Given the description of an element on the screen output the (x, y) to click on. 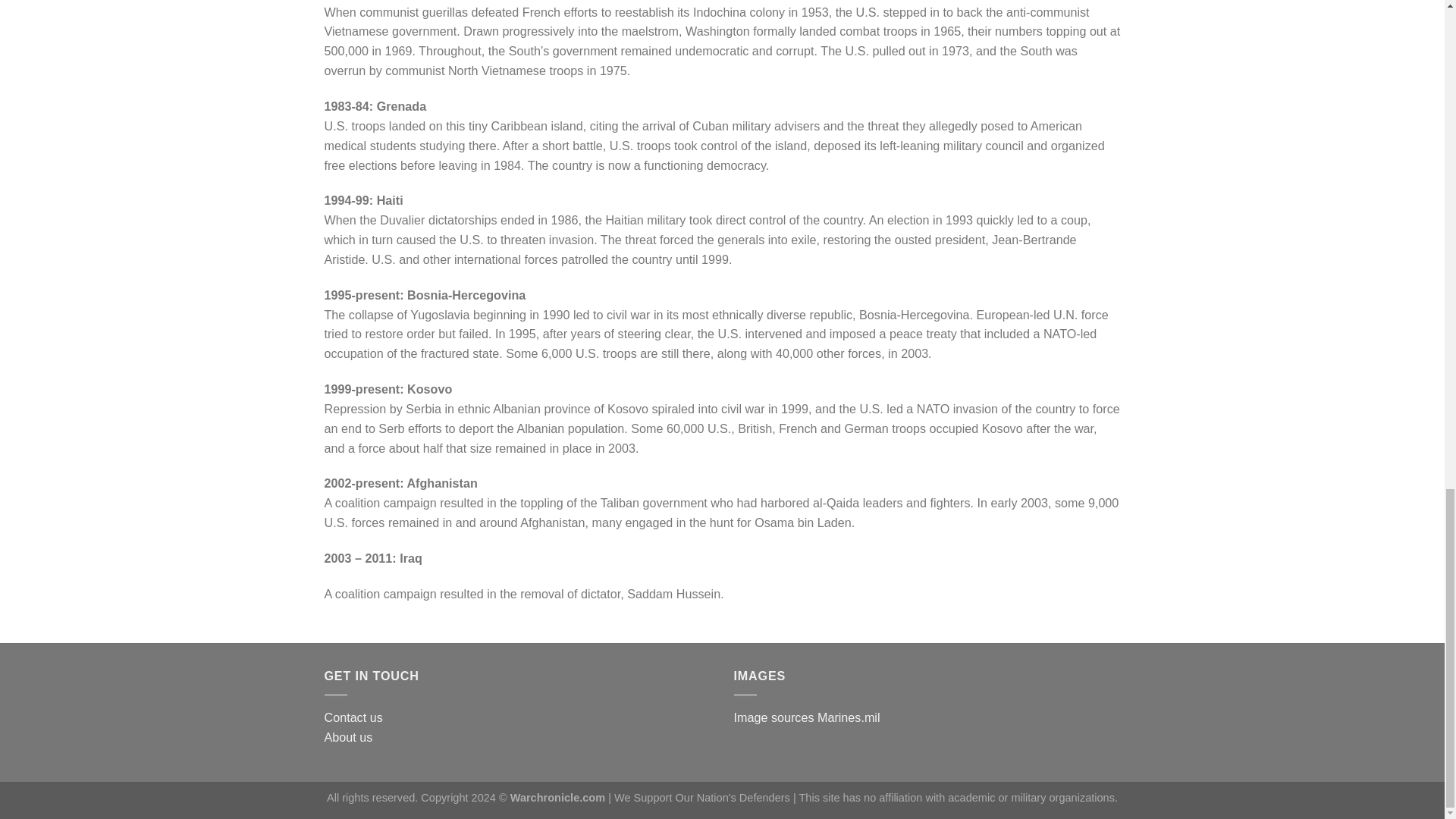
Contact us (353, 716)
Marines.mil (848, 716)
About us (348, 736)
